Given the description of an element on the screen output the (x, y) to click on. 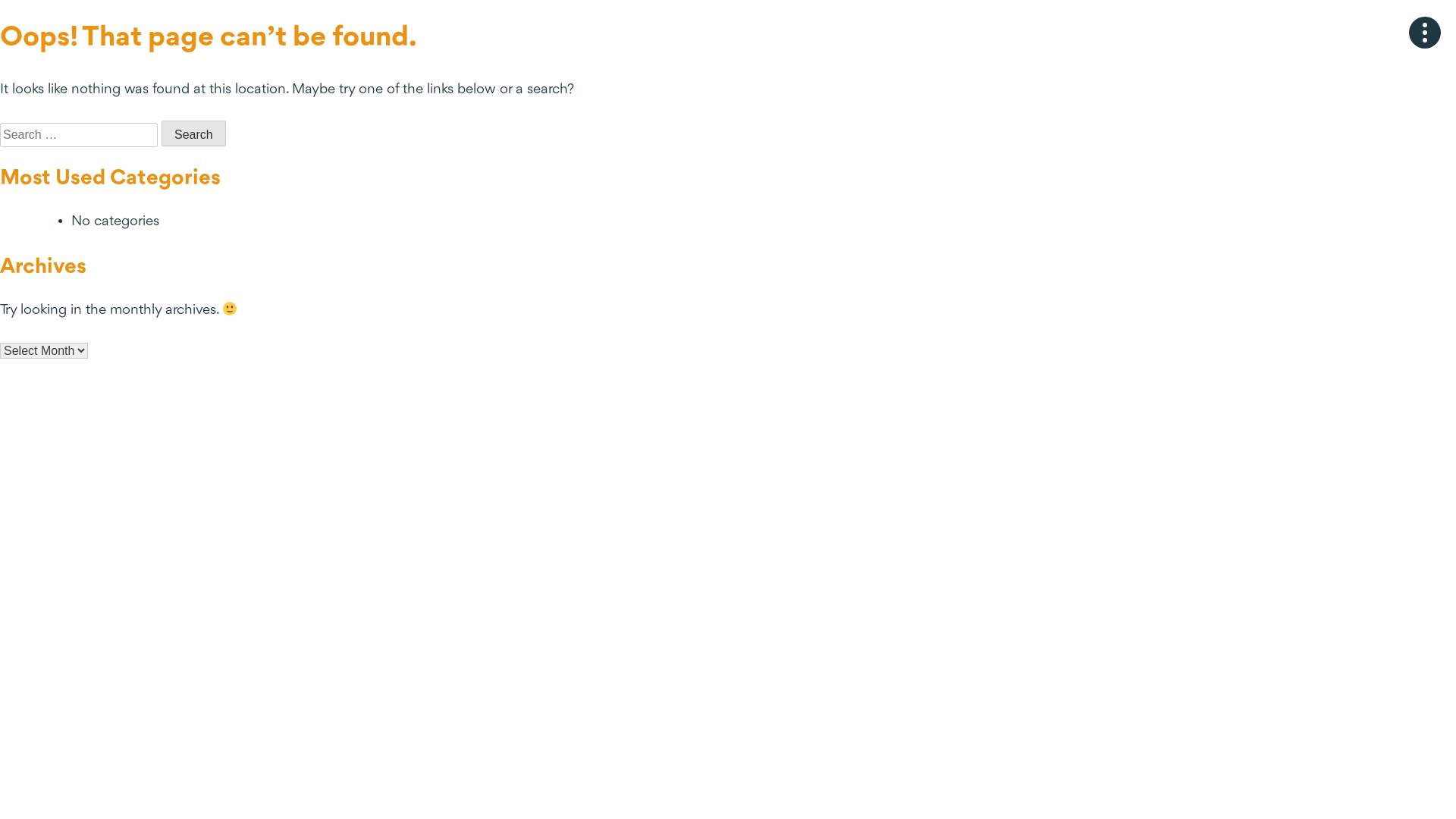
Search Element type: text (193, 133)
